Given the description of an element on the screen output the (x, y) to click on. 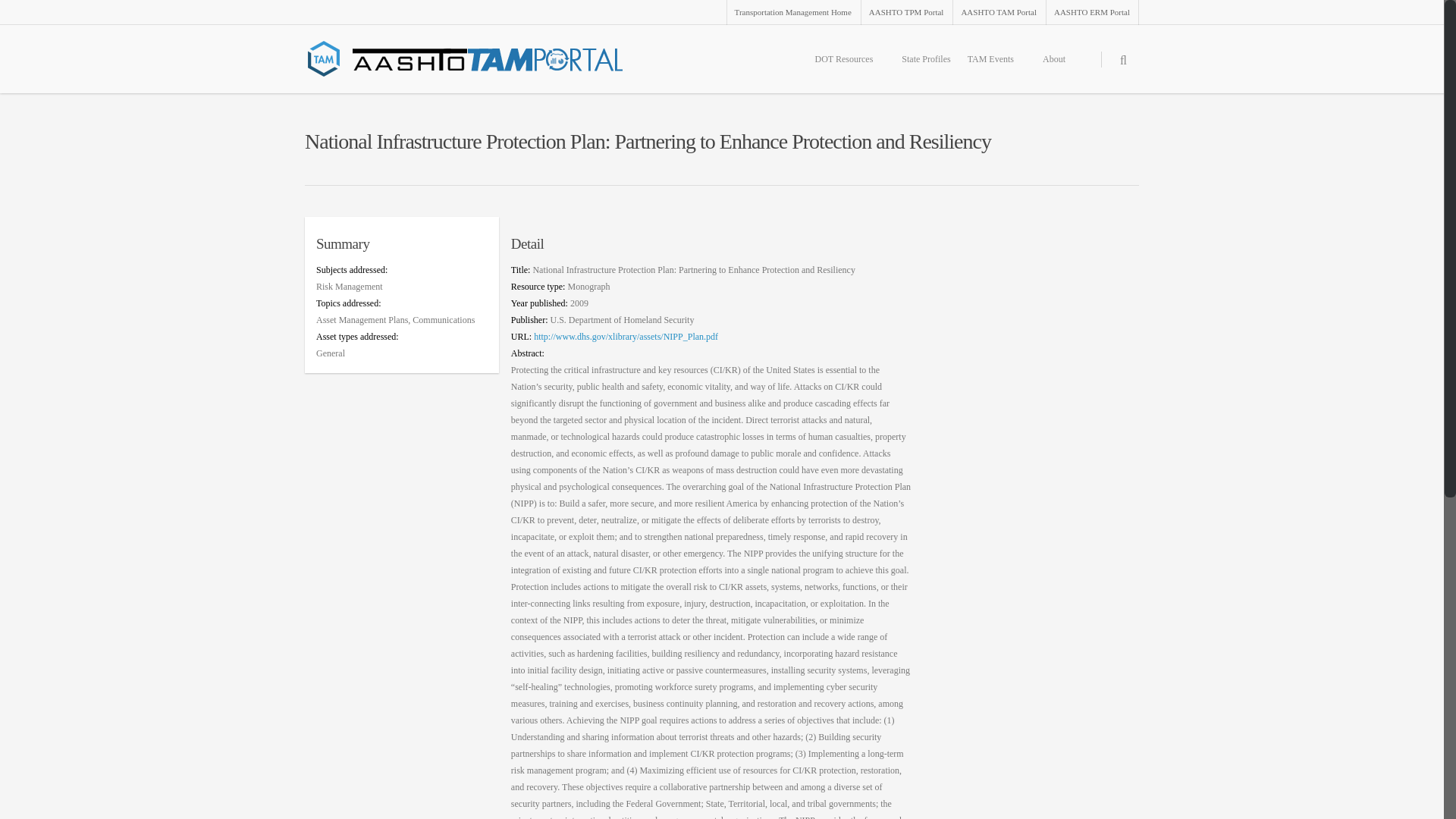
AASHTO TPM Portal (906, 12)
Transportation Management Home (792, 12)
AASHTO TAM Portal (997, 12)
DOT Resources (850, 66)
State Profiles (925, 66)
TAM Events (996, 66)
AASHTO ERM Portal (1091, 12)
About (1059, 66)
